Given the description of an element on the screen output the (x, y) to click on. 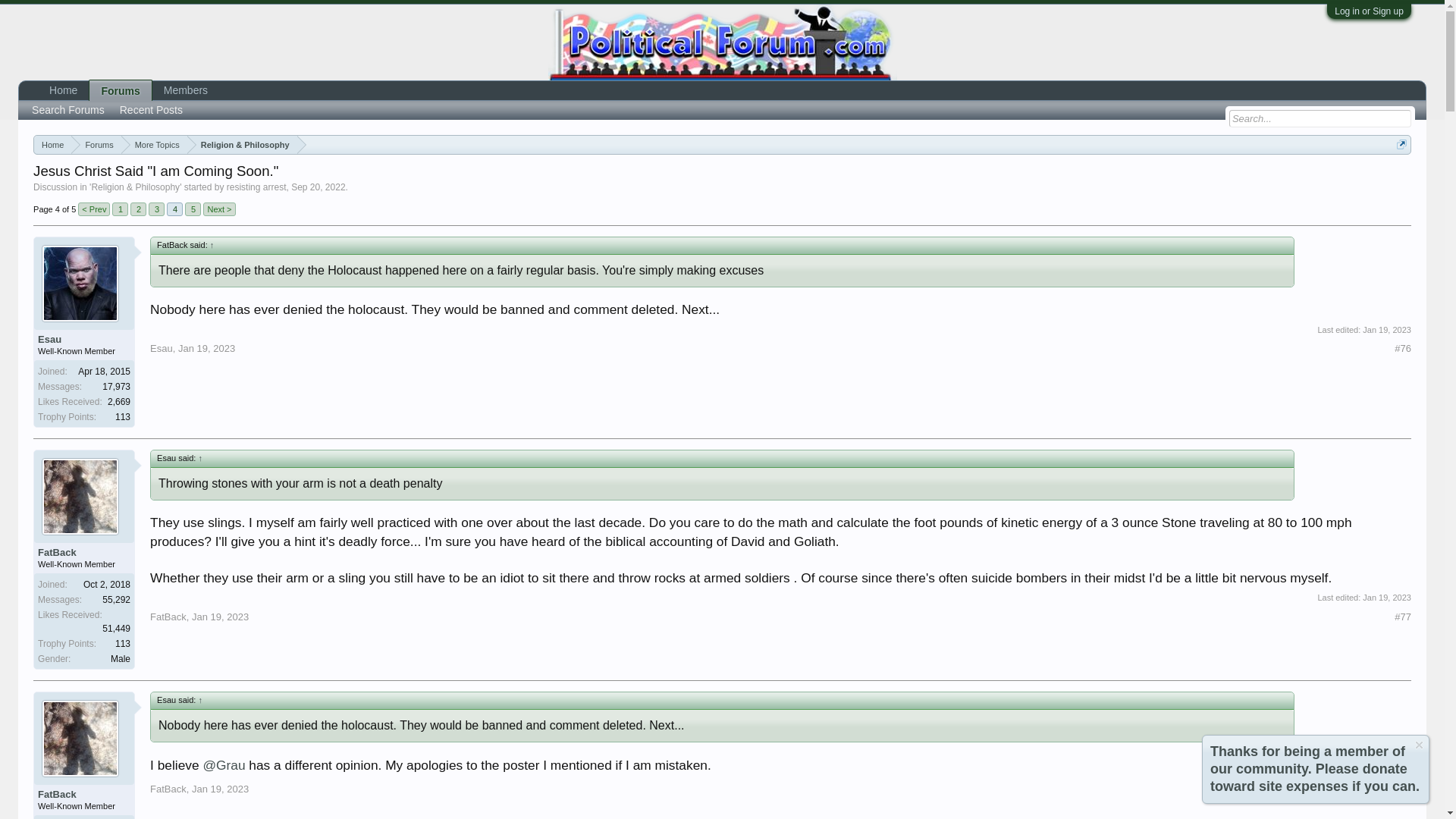
Dismiss Notice (1419, 745)
Sep 20, 2022 (318, 186)
4 (175, 209)
Home (52, 144)
Esau (84, 339)
Permalink (1402, 349)
More Topics (153, 144)
FatBack (84, 552)
2 (139, 209)
5 (192, 209)
Jan 19, 2023 at 4:44 PM (1386, 596)
3 (156, 209)
FatBack (84, 794)
113 (123, 416)
